Given the description of an element on the screen output the (x, y) to click on. 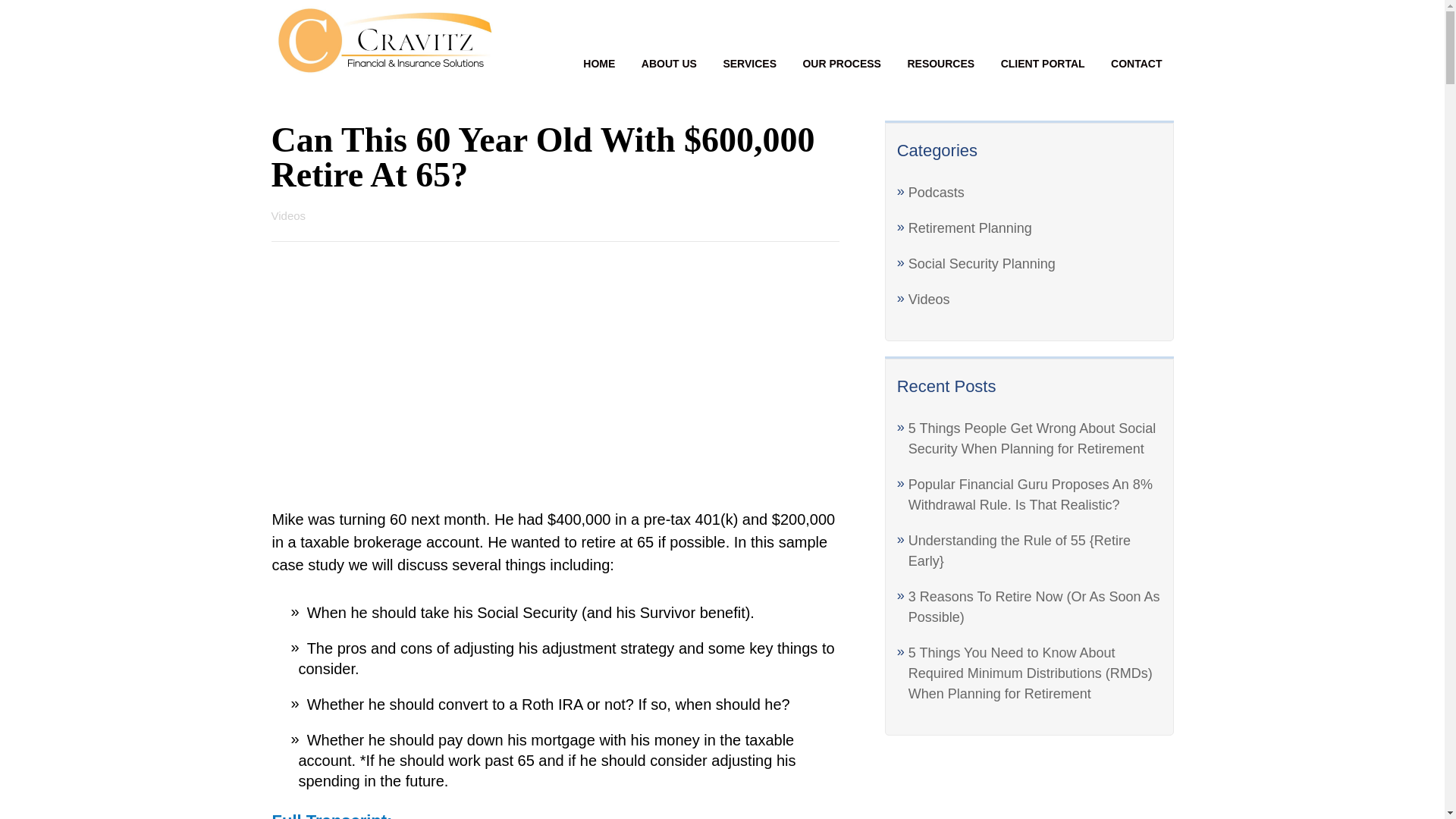
CONTACT (1135, 63)
Podcasts (935, 192)
Videos (287, 215)
HOME (598, 63)
CLIENT PORTAL (1042, 63)
Videos (929, 299)
SERVICES (749, 63)
OUR PROCESS (841, 63)
ABOUT US (669, 63)
